Given the description of an element on the screen output the (x, y) to click on. 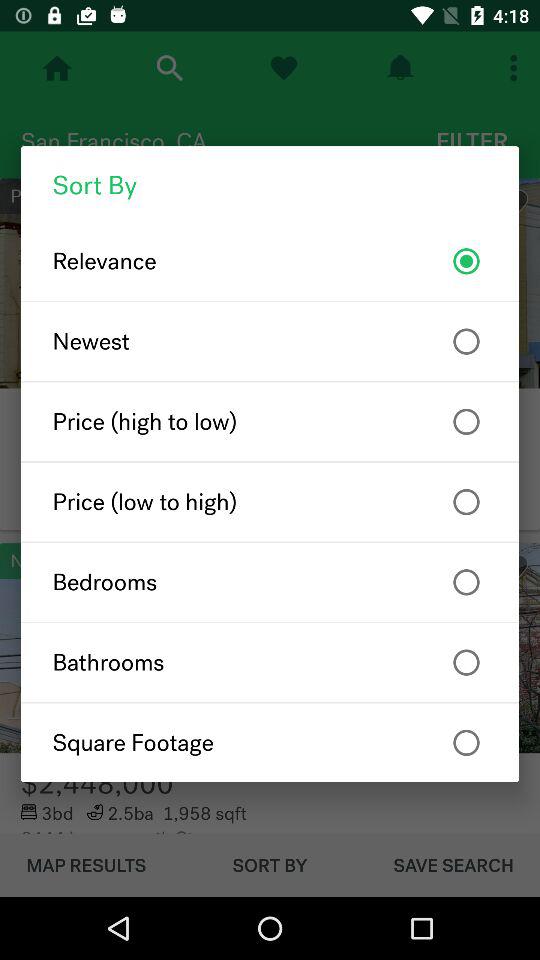
jump until the bedrooms item (270, 582)
